Given the description of an element on the screen output the (x, y) to click on. 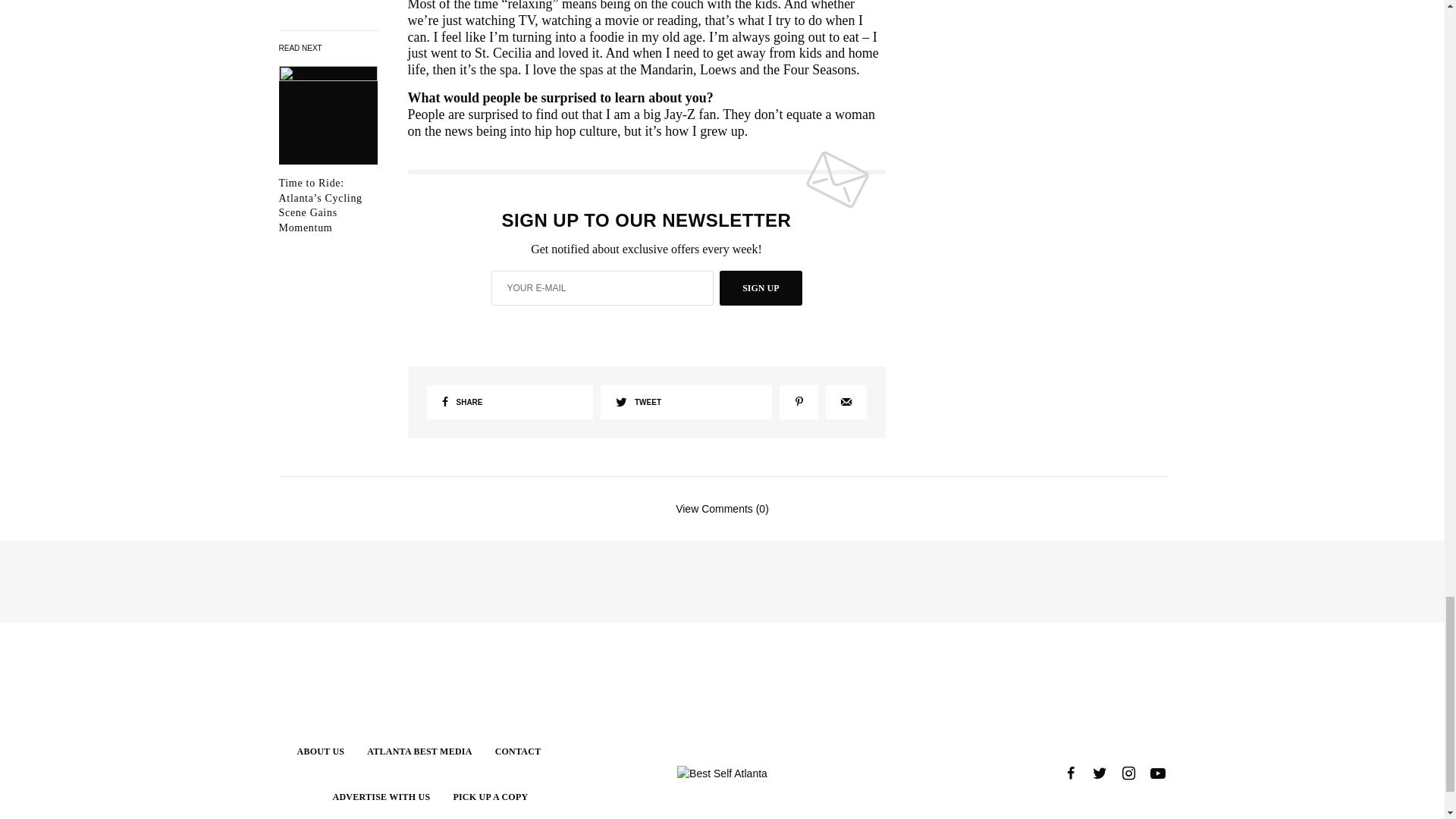
TWEET (685, 401)
Best Self Atlanta (722, 773)
SIGN UP (760, 288)
SHARE (509, 401)
